Given the description of an element on the screen output the (x, y) to click on. 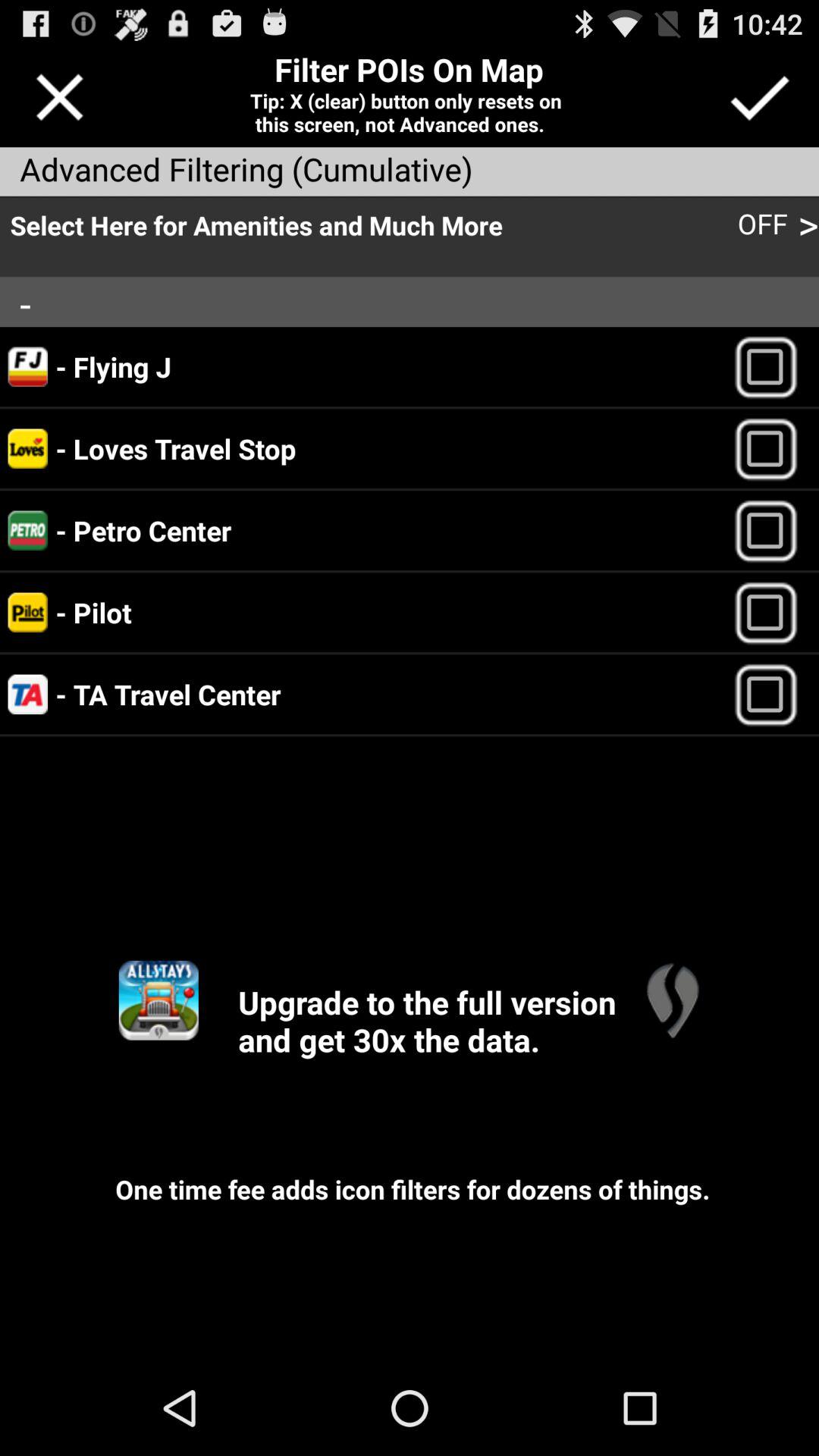
select trip (772, 694)
